Given the description of an element on the screen output the (x, y) to click on. 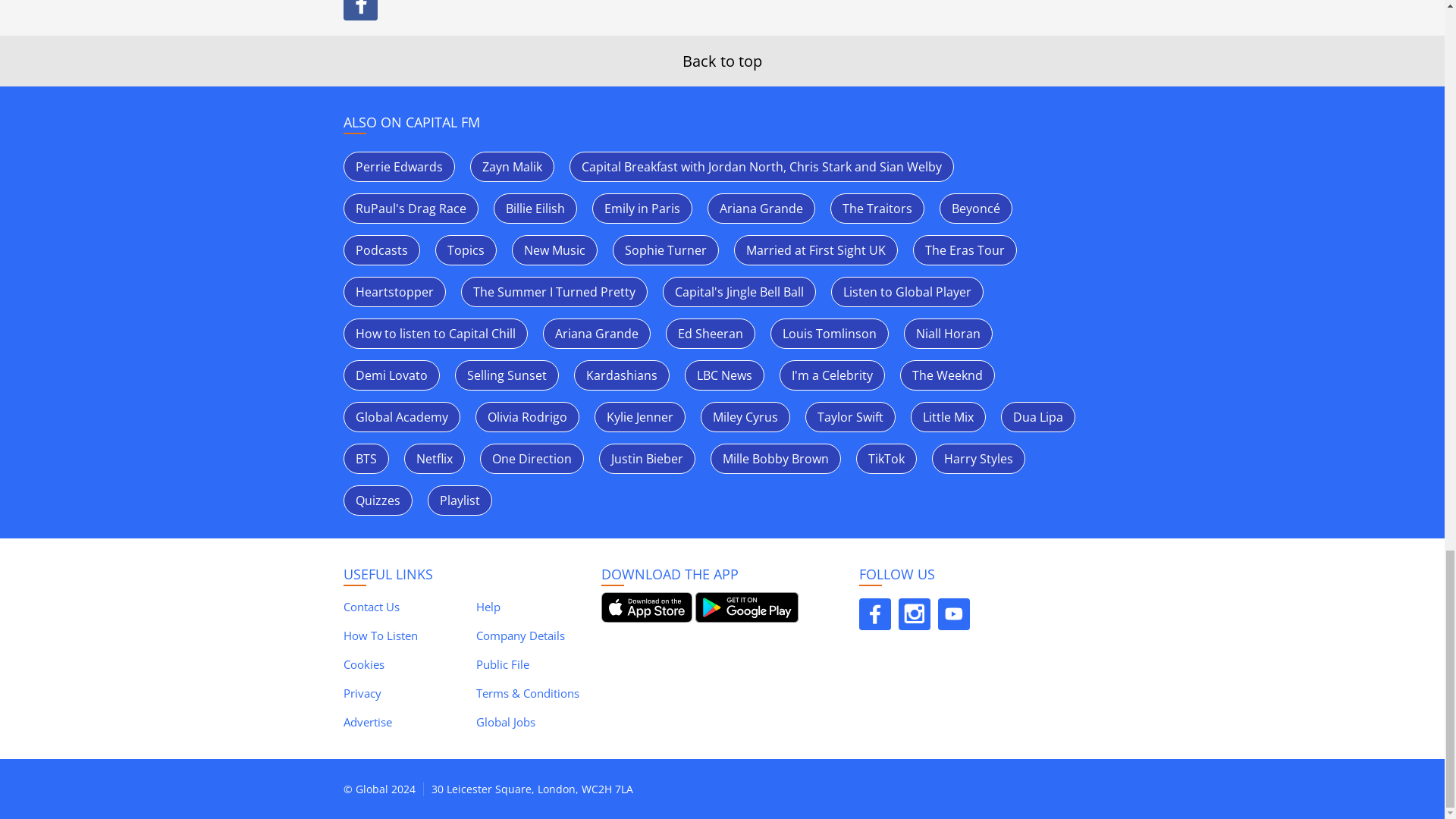
Follow Capital on Facebook (874, 613)
Follow Capital on Instagram (914, 613)
Back to top (721, 60)
Follow Capital on Youtube (953, 613)
